Given the description of an element on the screen output the (x, y) to click on. 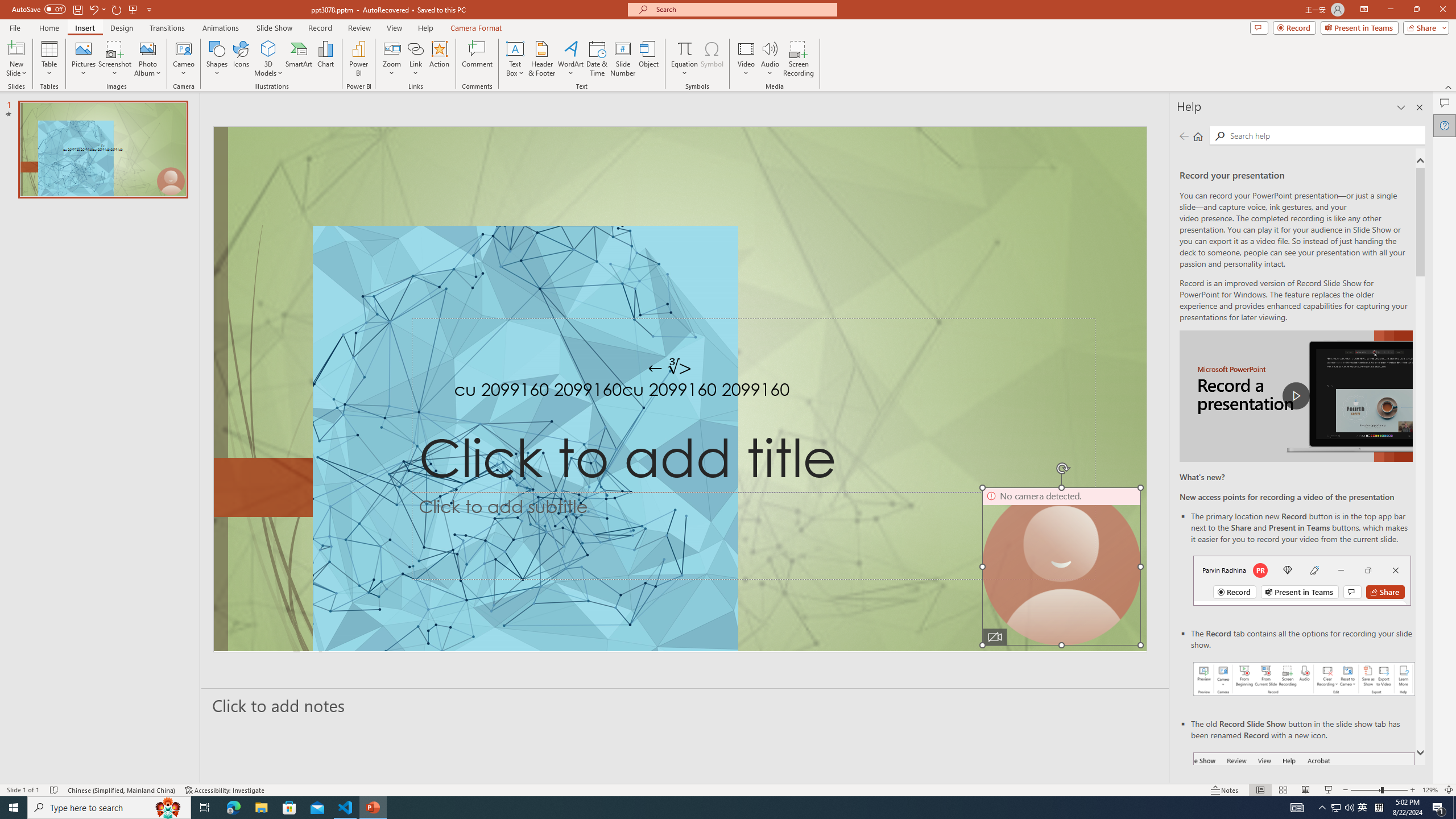
An abstract genetic concept (680, 388)
Equation (683, 58)
Chart... (325, 58)
Link (415, 48)
Link (415, 58)
